Given the description of an element on the screen output the (x, y) to click on. 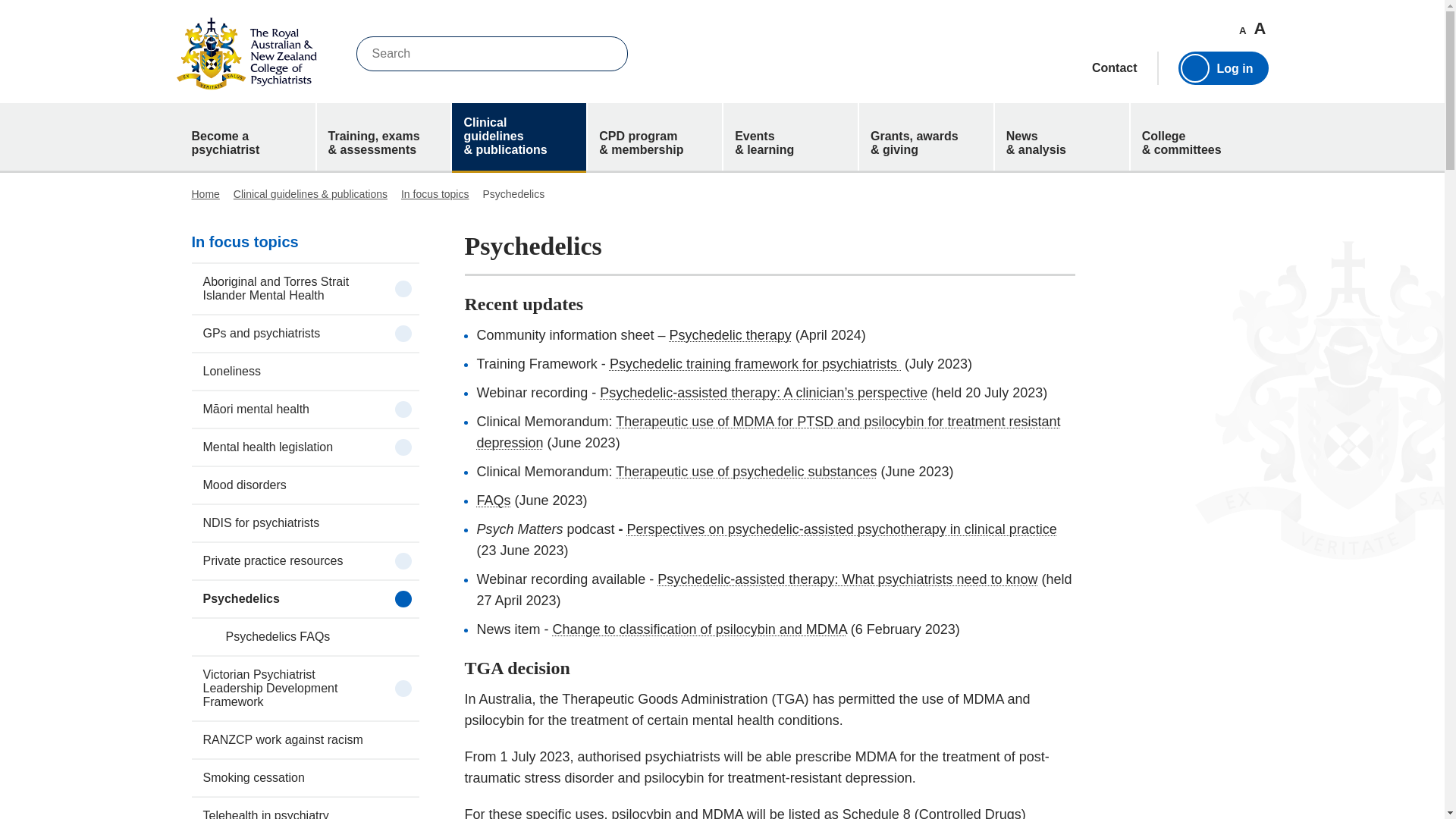
Contact (1114, 68)
Log in (1222, 68)
Search (605, 53)
RANZCP homepage (245, 53)
Become a psychiatrist (247, 136)
A (1242, 30)
